Given the description of an element on the screen output the (x, y) to click on. 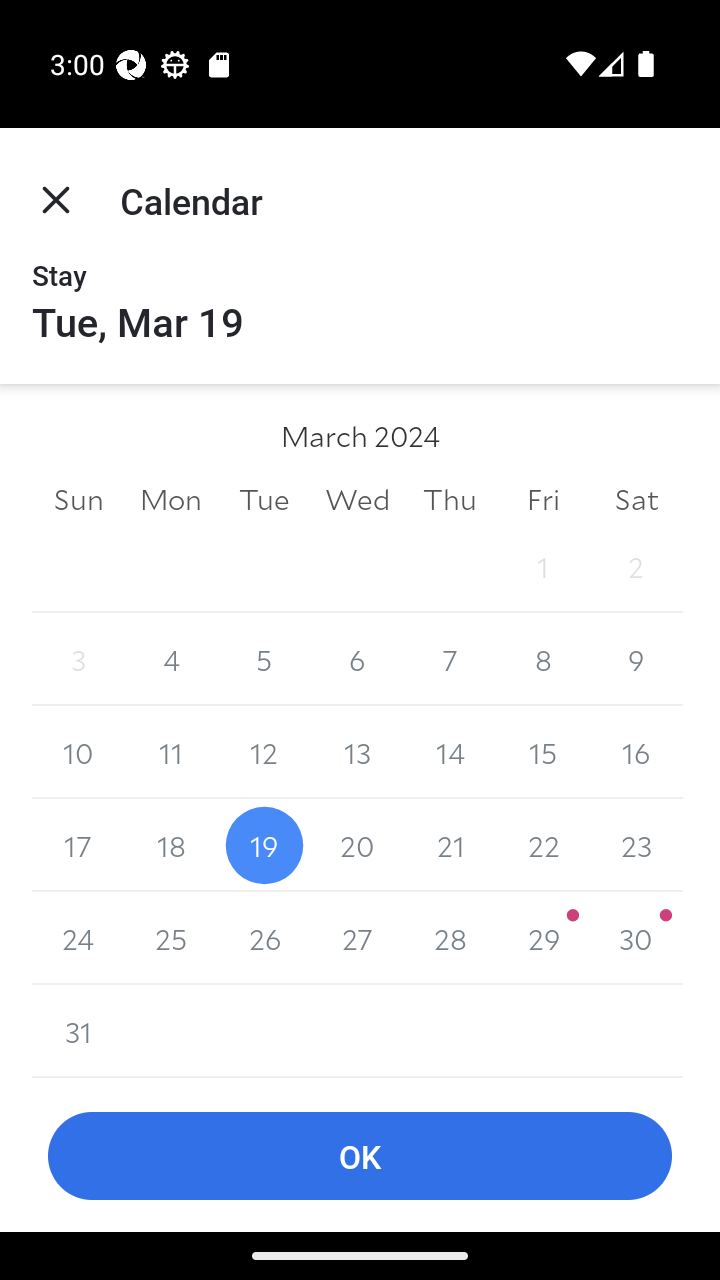
Sun (78, 498)
Mon (171, 498)
Tue (264, 498)
Wed (357, 498)
Thu (449, 498)
Fri (542, 498)
Sat (636, 498)
1 1 March 2024 (542, 566)
2 2 March 2024 (636, 566)
3 3 March 2024 (78, 659)
4 4 March 2024 (171, 659)
5 5 March 2024 (264, 659)
6 6 March 2024 (357, 659)
7 7 March 2024 (449, 659)
8 8 March 2024 (542, 659)
9 9 March 2024 (636, 659)
10 10 March 2024 (78, 752)
11 11 March 2024 (171, 752)
12 12 March 2024 (264, 752)
13 13 March 2024 (357, 752)
14 14 March 2024 (449, 752)
15 15 March 2024 (542, 752)
16 16 March 2024 (636, 752)
17 17 March 2024 (78, 845)
18 18 March 2024 (171, 845)
19 19 March 2024 (264, 845)
20 20 March 2024 (357, 845)
21 21 March 2024 (449, 845)
22 22 March 2024 (542, 845)
23 23 March 2024 (636, 845)
24 24 March 2024 (78, 938)
25 25 March 2024 (171, 938)
26 26 March 2024 (264, 938)
27 27 March 2024 (357, 938)
28 28 March 2024 (449, 938)
29 29 March 2024 (542, 938)
30 30 March 2024 (636, 938)
31 31 March 2024 (78, 1031)
OK (359, 1156)
